Given the description of an element on the screen output the (x, y) to click on. 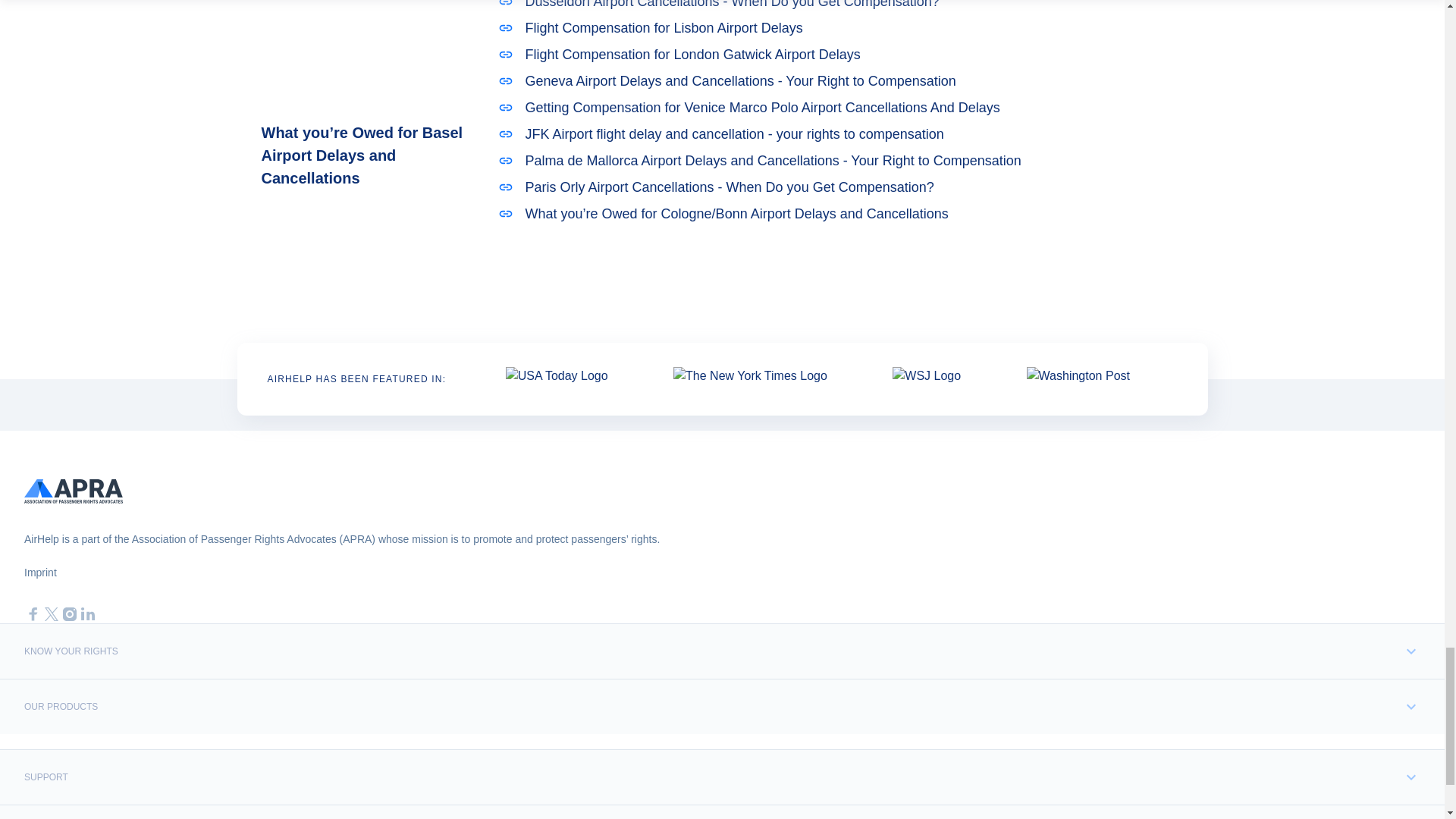
SocialFacebook (33, 614)
Imprint (40, 572)
SocialInstagram (69, 614)
SocialTwitter (51, 614)
Imprint (40, 572)
Flight Compensation for London Gatwick Airport Delays (800, 55)
SocialLinkedin (87, 614)
Flight Compensation for Lisbon Airport Delays (800, 28)
